Given the description of an element on the screen output the (x, y) to click on. 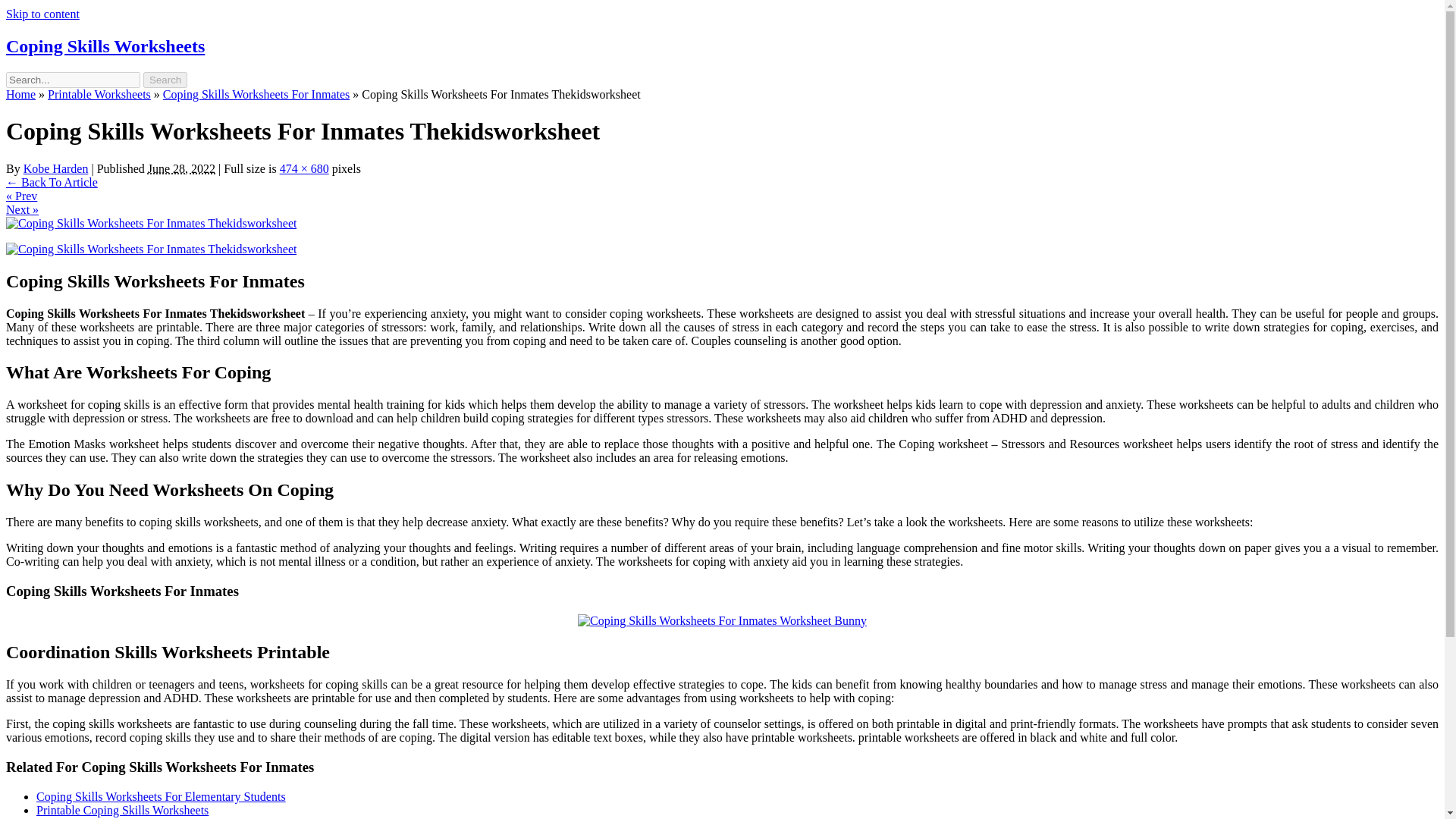
Coping Skills Worksheets For Elementary Students (160, 796)
Search (164, 79)
View all posts by Kobe Harden (55, 168)
Printable Worksheets (99, 93)
Printable Coping Skills Worksheets (122, 809)
Skip to content (42, 13)
Coping Skills Worksheets For Inmates (256, 93)
Search (164, 79)
Return to Coping Skills Worksheets For Inmates (51, 182)
Link to full-size image (304, 168)
Kobe Harden (55, 168)
Coping Skills Worksheets (105, 46)
Home (19, 93)
coping skills worksheets for inmates thekidsworksheet 1 (151, 249)
